Given the description of an element on the screen output the (x, y) to click on. 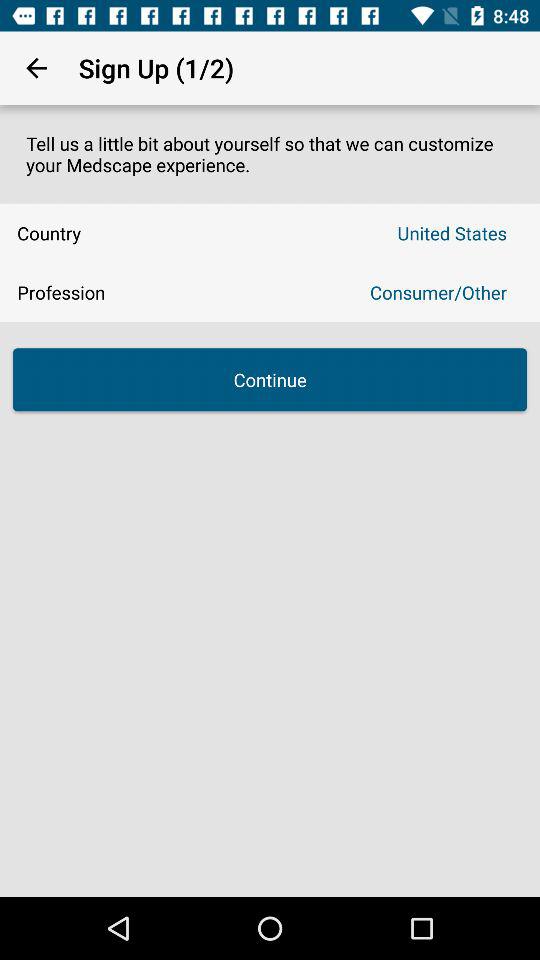
press continue icon (269, 379)
